Given the description of an element on the screen output the (x, y) to click on. 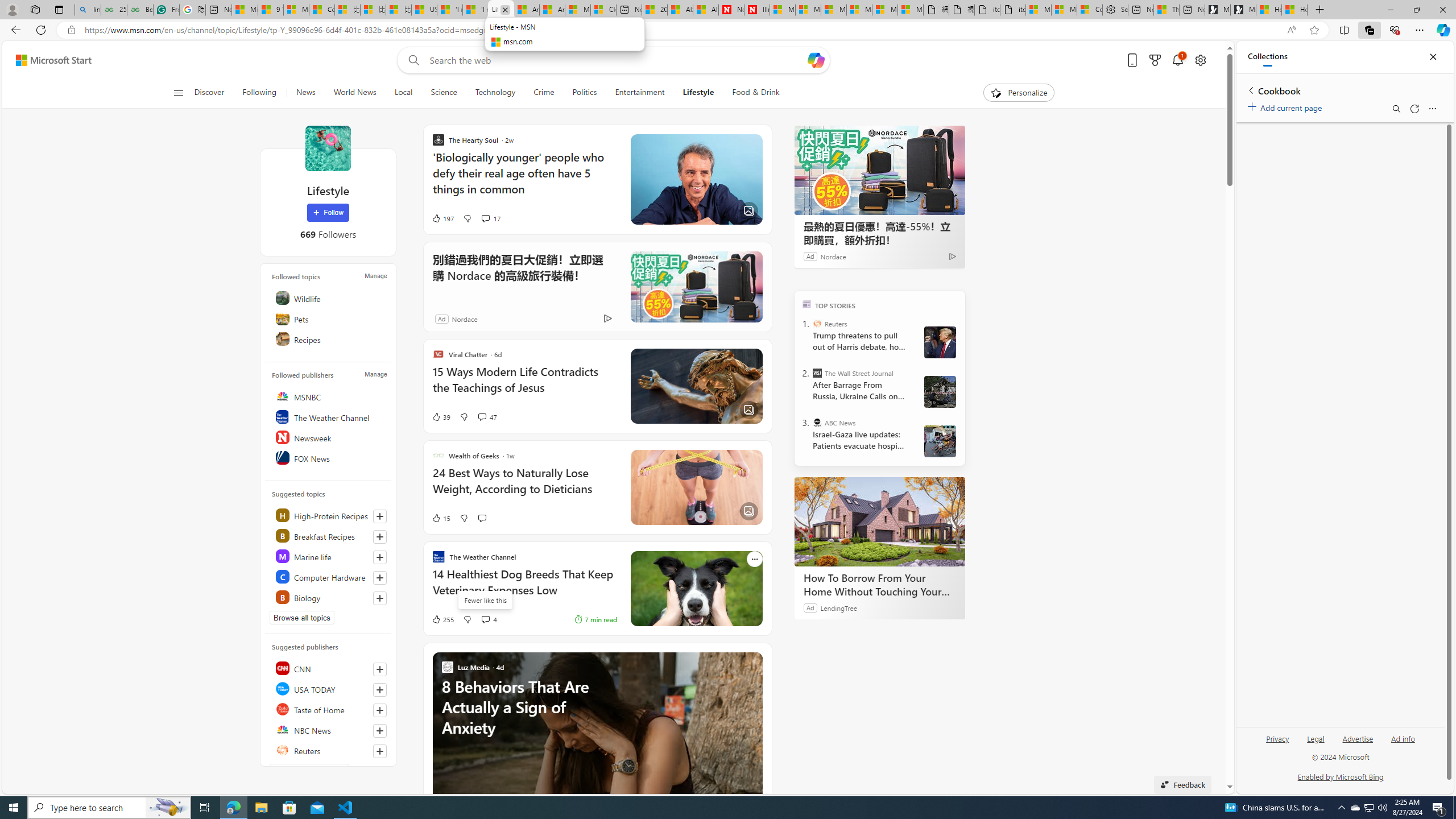
Entertainment (639, 92)
linux basic - Search (87, 9)
News (305, 92)
Reuters (816, 323)
Class: button-glyph (178, 92)
The Wall Street Journal (816, 372)
TOP (806, 302)
Back to list of collections (1250, 90)
Follow (328, 212)
